Given the description of an element on the screen output the (x, y) to click on. 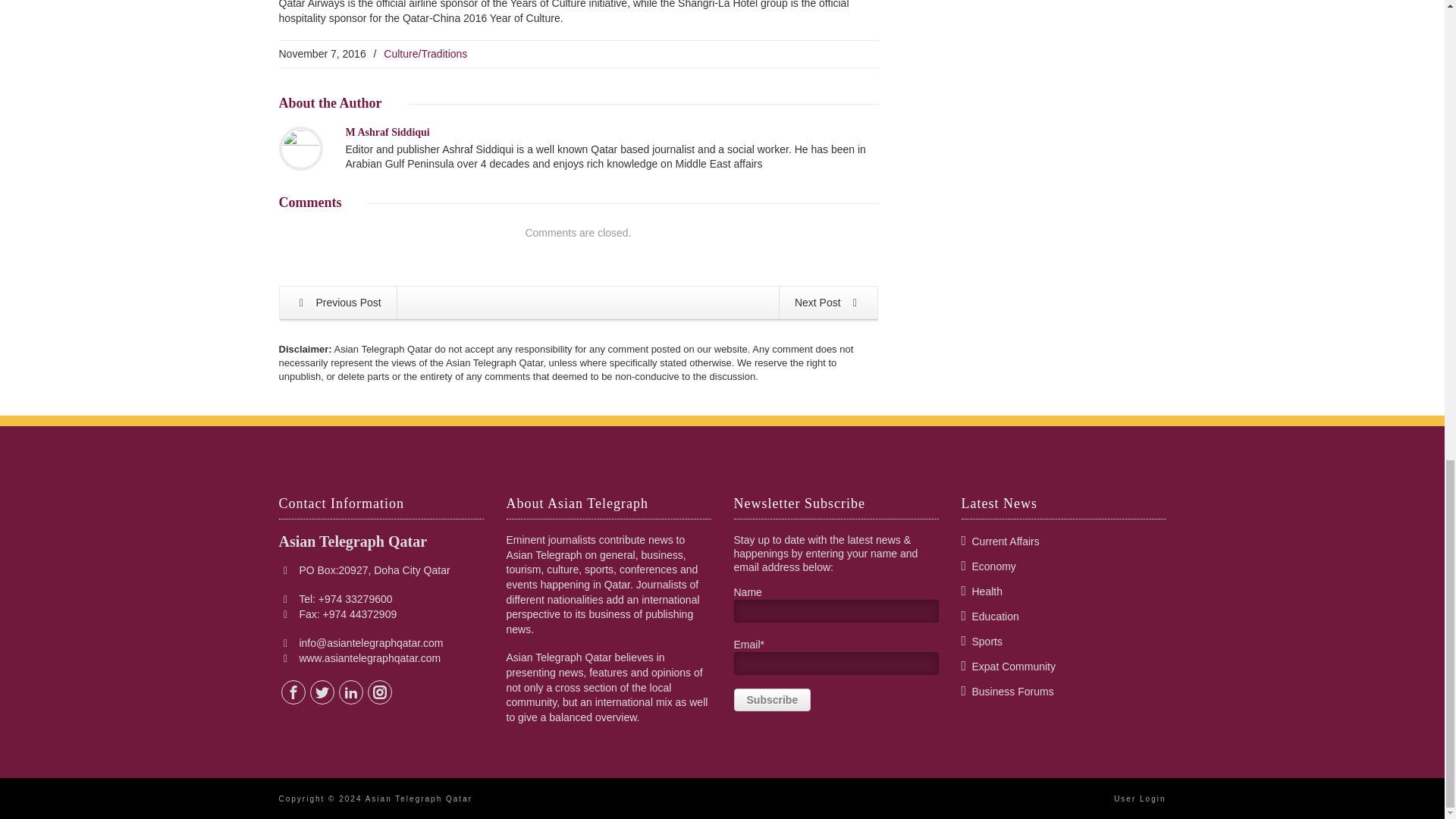
M Ashraf Siddiqui (387, 132)
Author's Posts (387, 132)
Twitter (322, 691)
Next Post (828, 302)
Facebook (293, 691)
Subscribe (771, 699)
Previous Post (337, 302)
Instagram (379, 691)
Linkedin (350, 691)
